Given the description of an element on the screen output the (x, y) to click on. 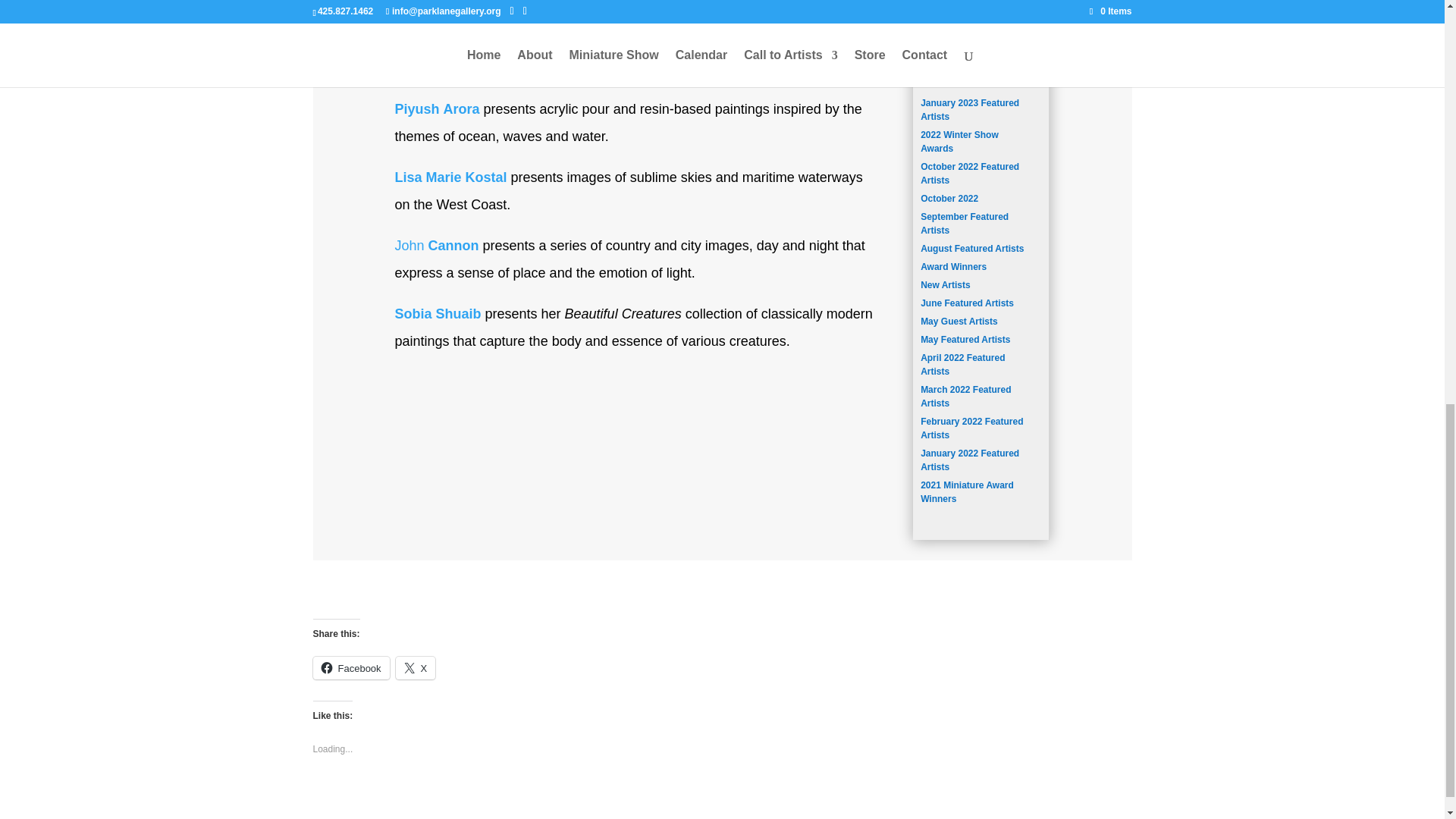
September Featured Artists (964, 223)
May Guest Artists (958, 321)
January 2023 Featured Artists (969, 109)
John Cannon (436, 245)
Piyush Arora (436, 109)
Award Winners (953, 266)
Click to share on Facebook (350, 667)
May Featured Artists (965, 339)
June Featured Artists (966, 303)
2022 Winter Show Awards (959, 141)
New Artists (945, 285)
October 2022 (949, 198)
October 2022 Featured Artists (969, 173)
Click to share on X (415, 667)
Sobia Shuaib (437, 313)
